Given the description of an element on the screen output the (x, y) to click on. 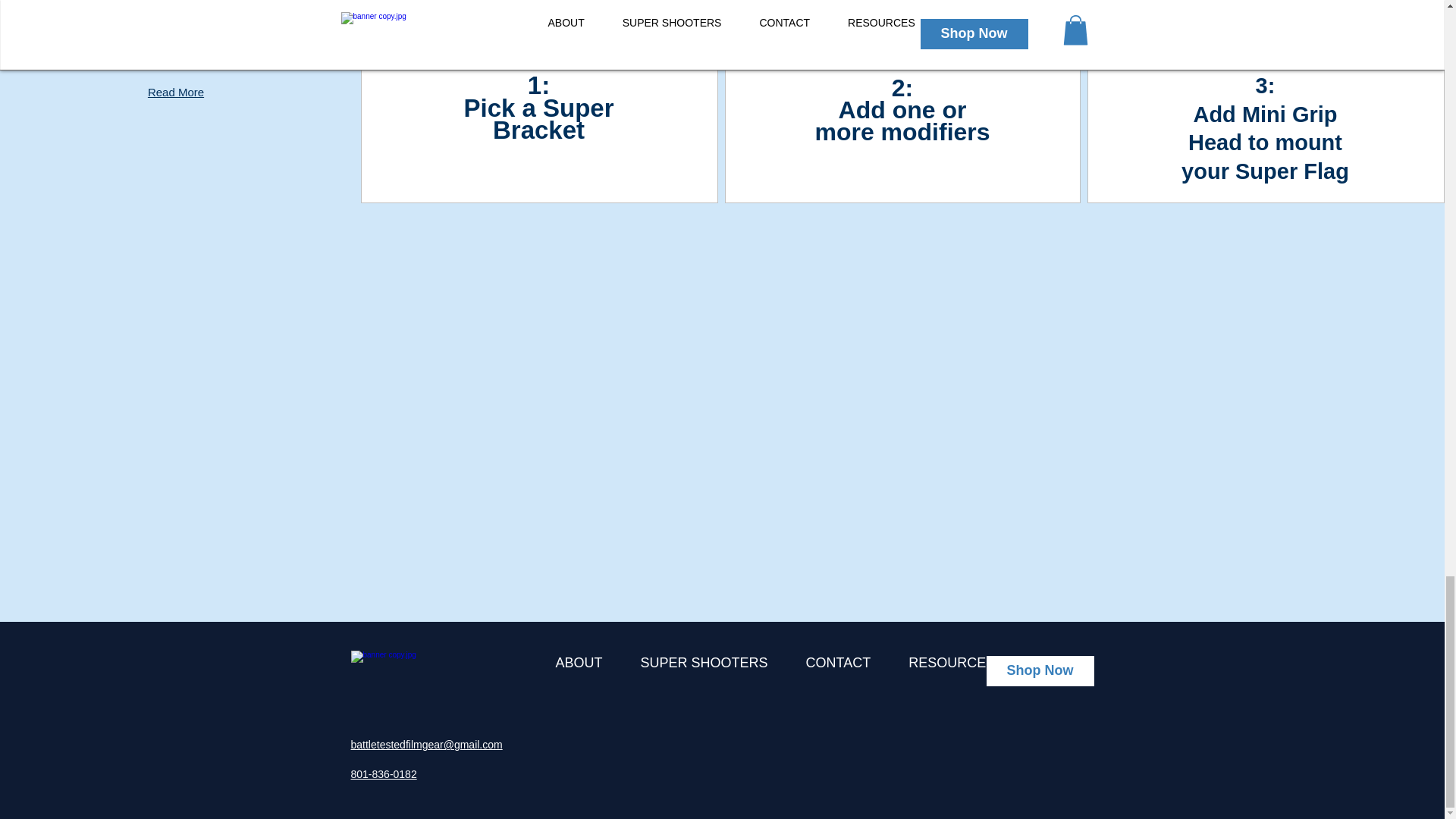
ABOUT (579, 672)
Shop Now (1039, 671)
CONTACT (838, 672)
RESOURCES (951, 672)
SUPER SHOOTERS (704, 672)
801-836-0182 (383, 774)
